Given the description of an element on the screen output the (x, y) to click on. 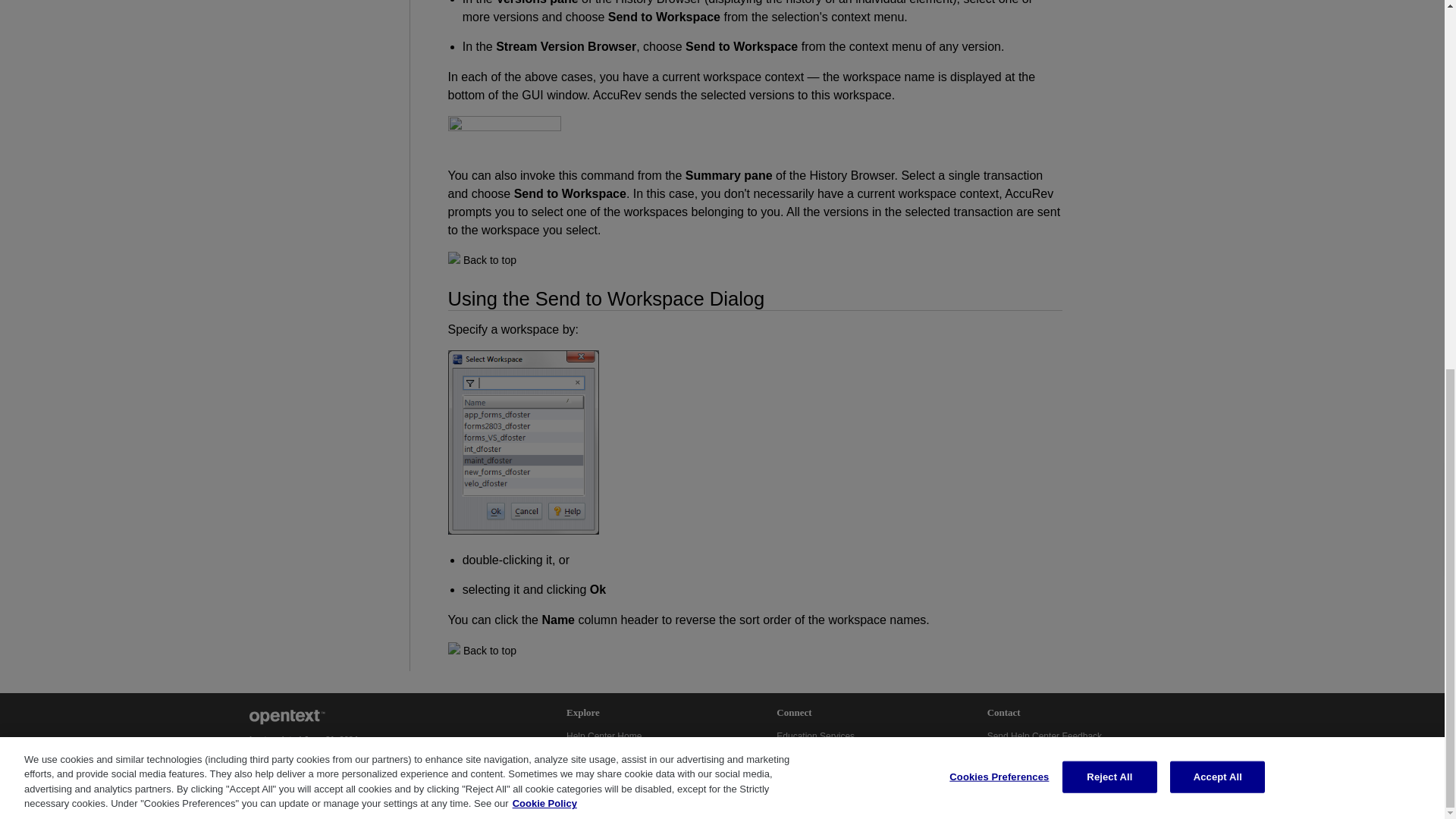
Download Help Center (612, 769)
Privacy (319, 753)
Cookies Preferences (287, 764)
Get Support (1013, 752)
Help Center Home (604, 736)
Terms of Use (274, 753)
More ADM Help Centers (616, 752)
Try AccuRev (802, 769)
Education Services (816, 736)
Community (800, 752)
Back to top (489, 650)
Send Help Center Feedback (1044, 736)
Back to top (489, 259)
